Given the description of an element on the screen output the (x, y) to click on. 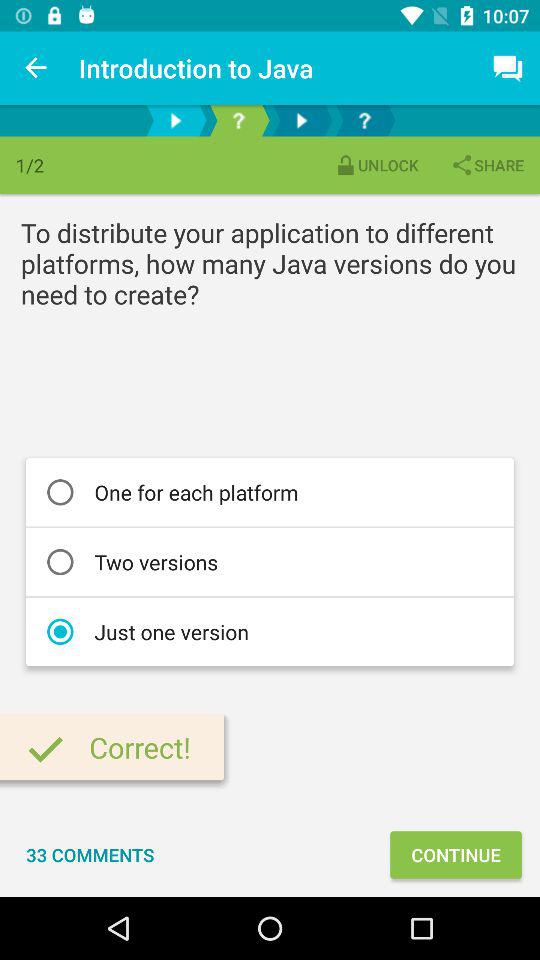
next page (175, 120)
